Given the description of an element on the screen output the (x, y) to click on. 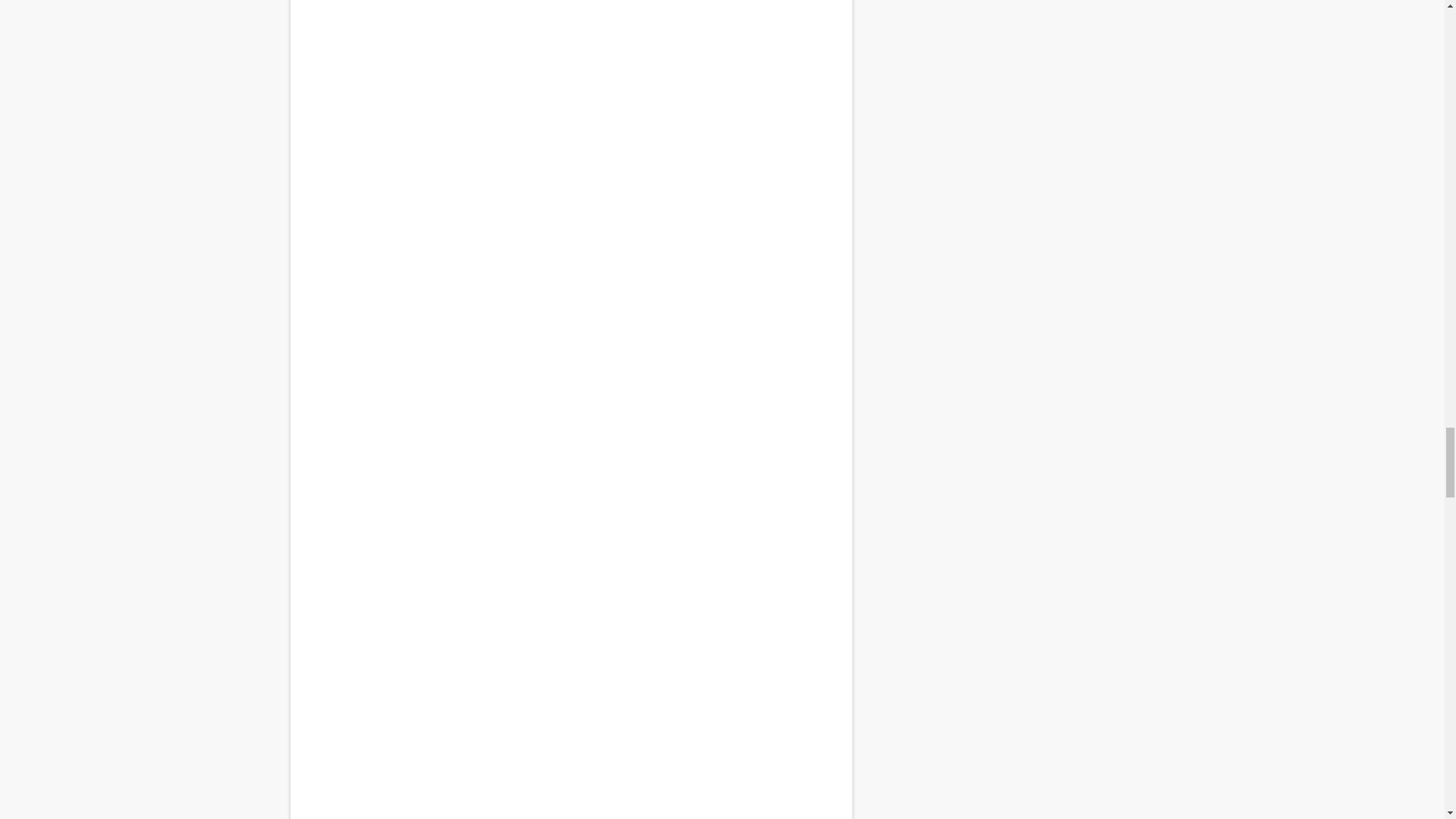
Words Everyday (570, 226)
Most Searched Words (570, 790)
